Given the description of an element on the screen output the (x, y) to click on. 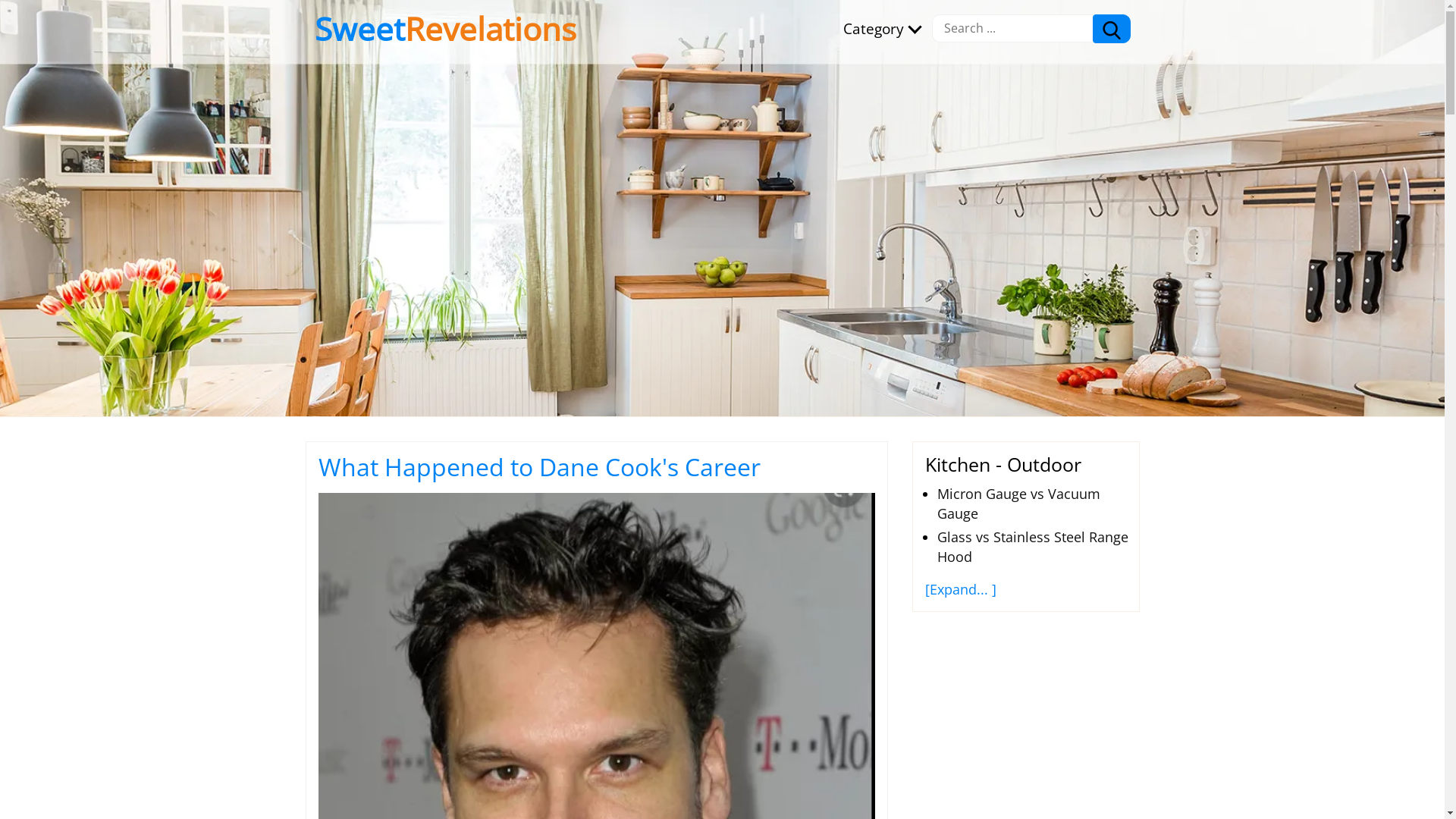
What Happened to Dane Cook's Career Element type: text (539, 466)
[Expand... ] Element type: text (960, 589)
SweetRevelations Element type: text (444, 28)
Glass vs Stainless Steel Range Hood Element type: text (1032, 546)
Micron Gauge vs Vacuum Gauge Element type: text (1018, 503)
